Given the description of an element on the screen output the (x, y) to click on. 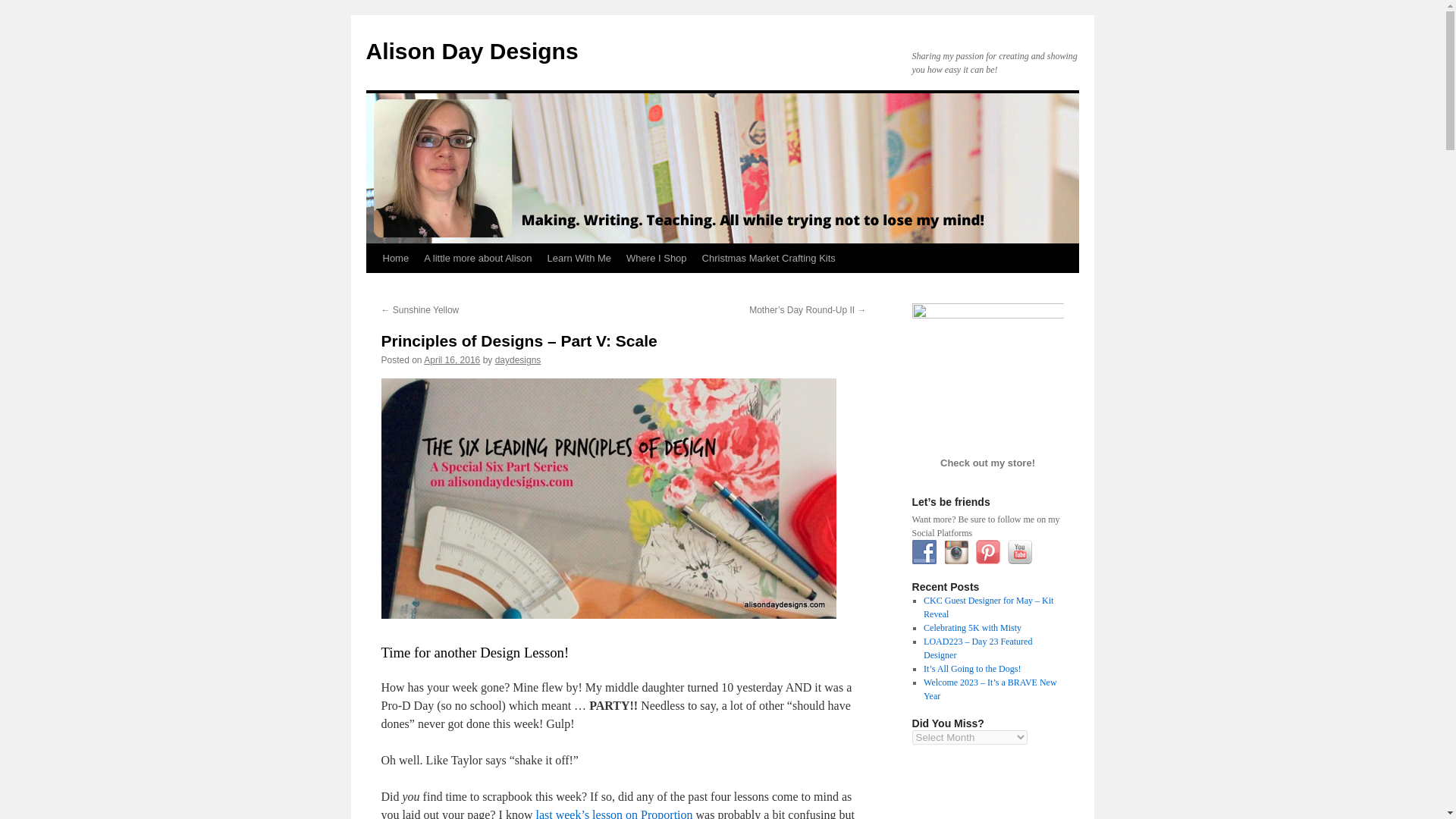
Follow Me on Facebook (923, 551)
daydesigns (518, 359)
Where I Shop (656, 258)
Home (395, 258)
Learn With Me (580, 258)
View all posts by daydesigns (518, 359)
Follow Me on Pinterest (986, 551)
A little more about Alison (477, 258)
Alison Day Designs (471, 50)
9:54 PM (451, 359)
